Given the description of an element on the screen output the (x, y) to click on. 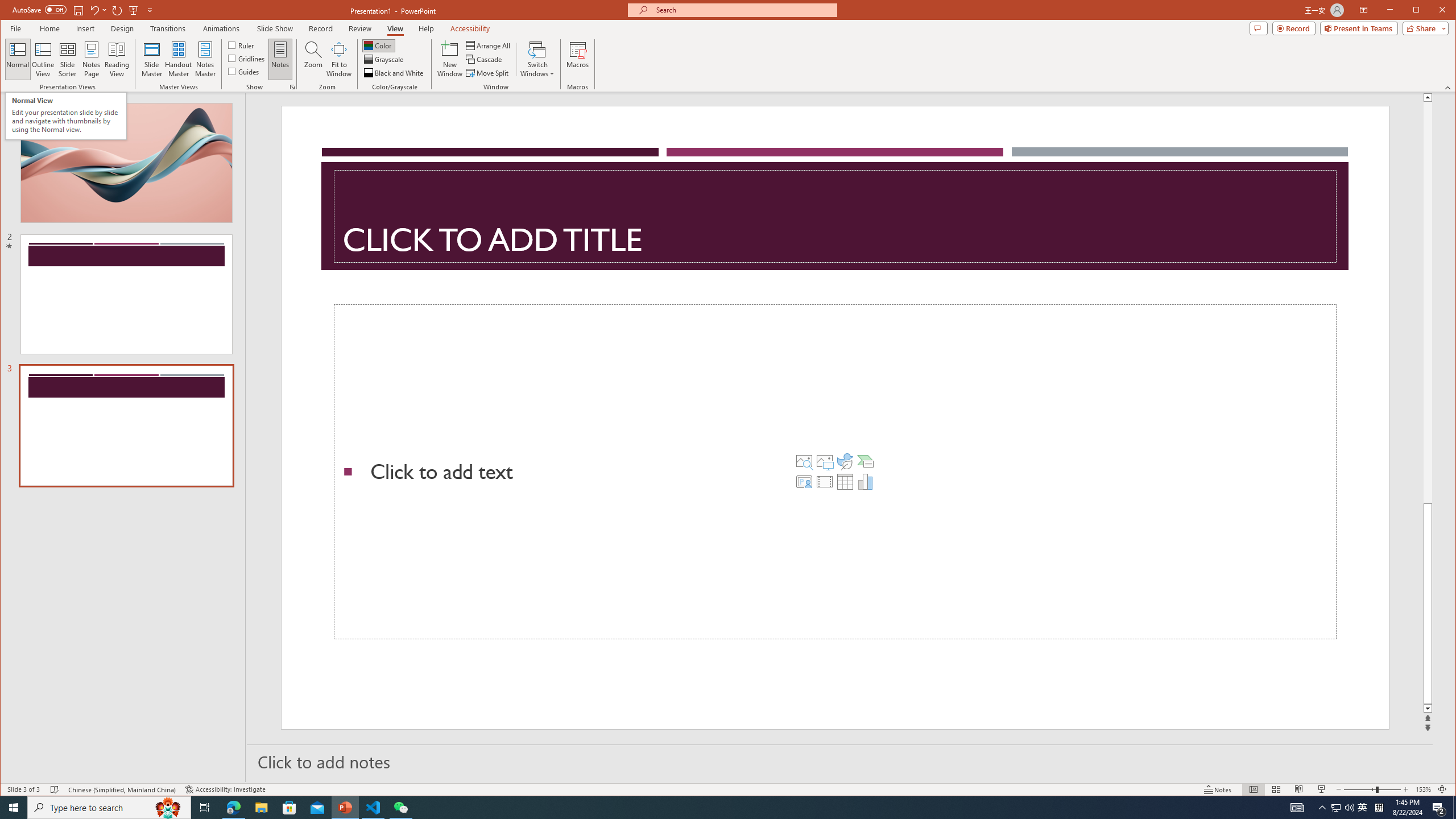
Guides (243, 70)
